Given the description of an element on the screen output the (x, y) to click on. 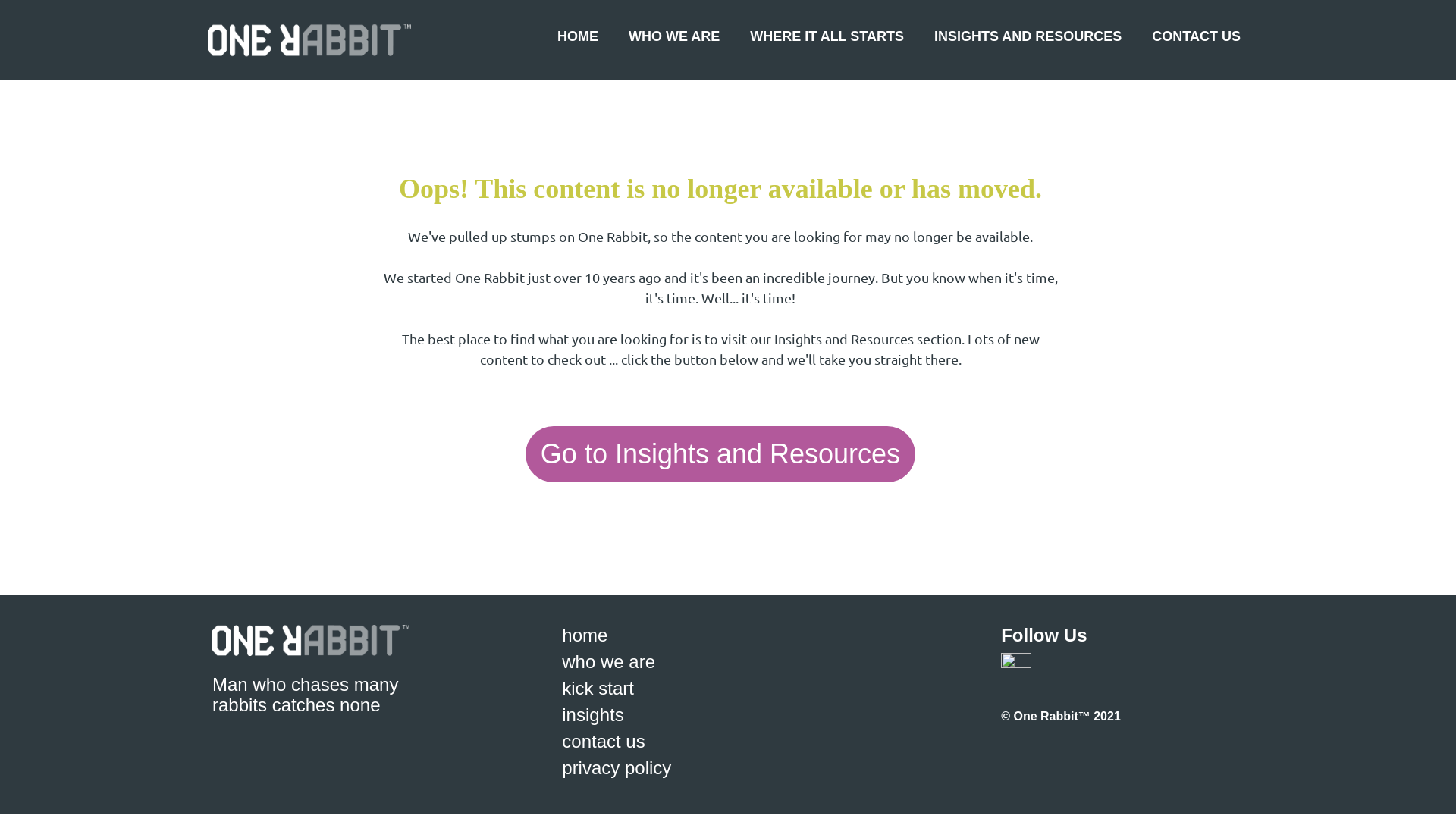
kick start Element type: text (597, 687)
contact us Element type: text (602, 741)
who we are Element type: text (608, 661)
HOME Element type: text (577, 36)
WHERE IT ALL STARTS Element type: text (826, 36)
home Element type: text (584, 634)
WHO WE ARE Element type: text (673, 36)
privacy policy Element type: text (616, 767)
insights Element type: text (592, 714)
One Rabbit Element type: hover (305, 39)
CONTACT US Element type: text (1195, 36)
Go to Insights and Resources Element type: text (720, 454)
INSIGHTS AND RESOURCES Element type: text (1027, 36)
